Given the description of an element on the screen output the (x, y) to click on. 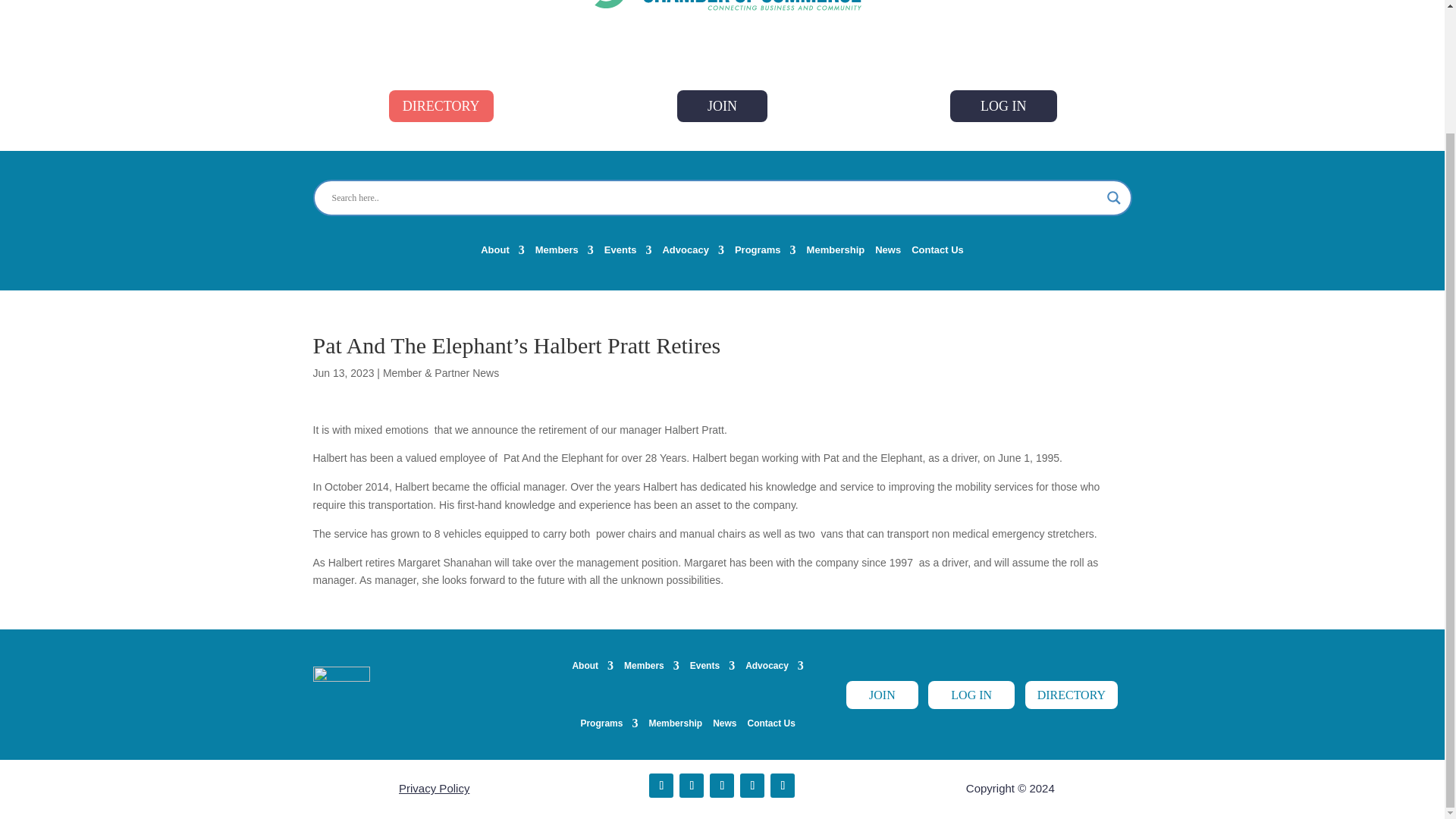
DIRECTORY (440, 105)
Members (564, 252)
chamber-logo-1 (722, 5)
About (502, 252)
Advocacy (692, 252)
Membership (835, 252)
Events (628, 252)
Follow on Youtube (751, 785)
JOIN (722, 105)
Follow on Instagram (782, 785)
